Given the description of an element on the screen output the (x, y) to click on. 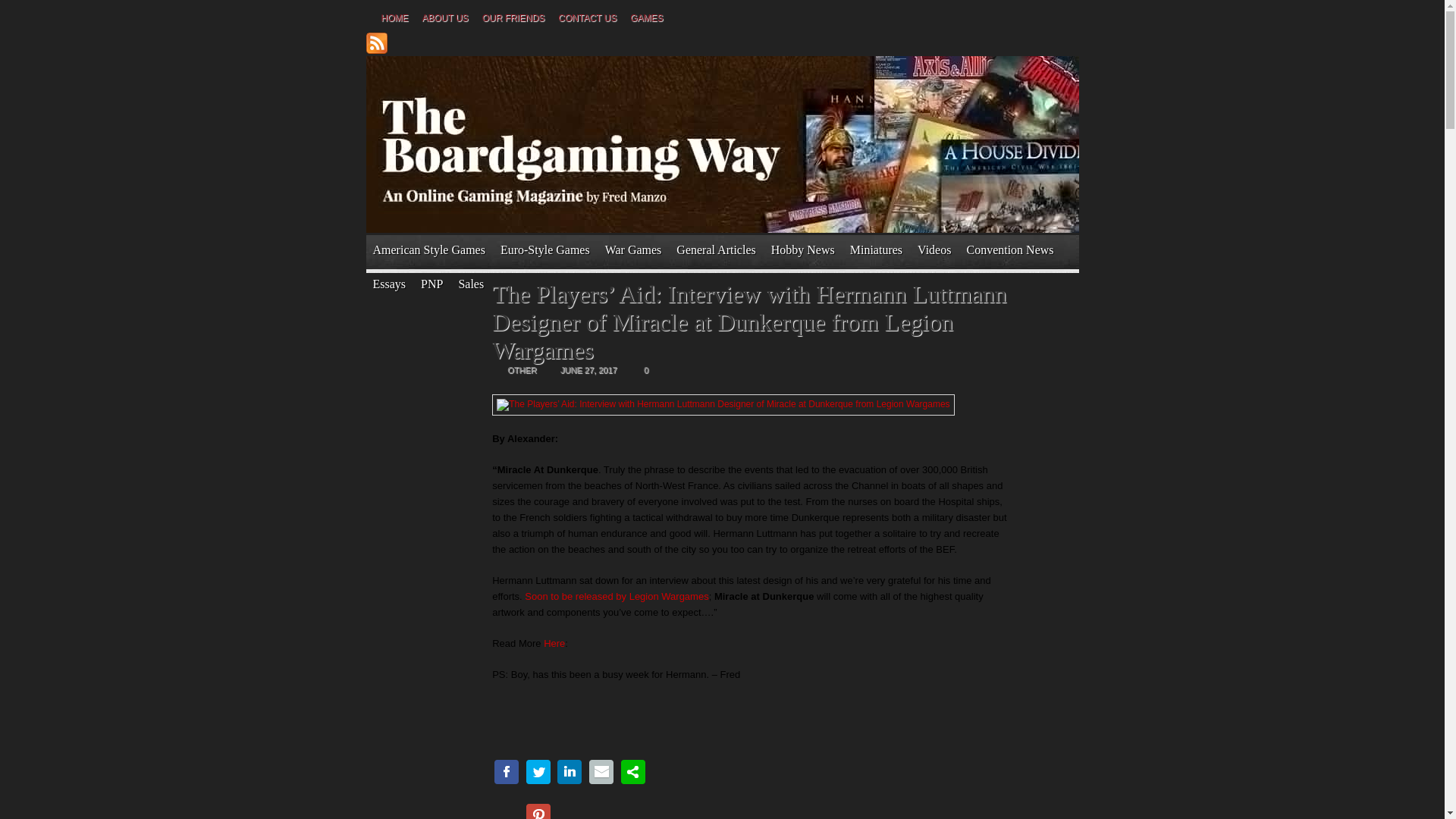
American Style Games (428, 250)
War Games (633, 250)
General Articles (715, 250)
ABOUT US (444, 18)
HOME (393, 18)
PNP (431, 284)
Soon to be released by Legion Wargames (615, 595)
Essays (388, 284)
Videos (934, 250)
CONTACT US (586, 18)
